Given the description of an element on the screen output the (x, y) to click on. 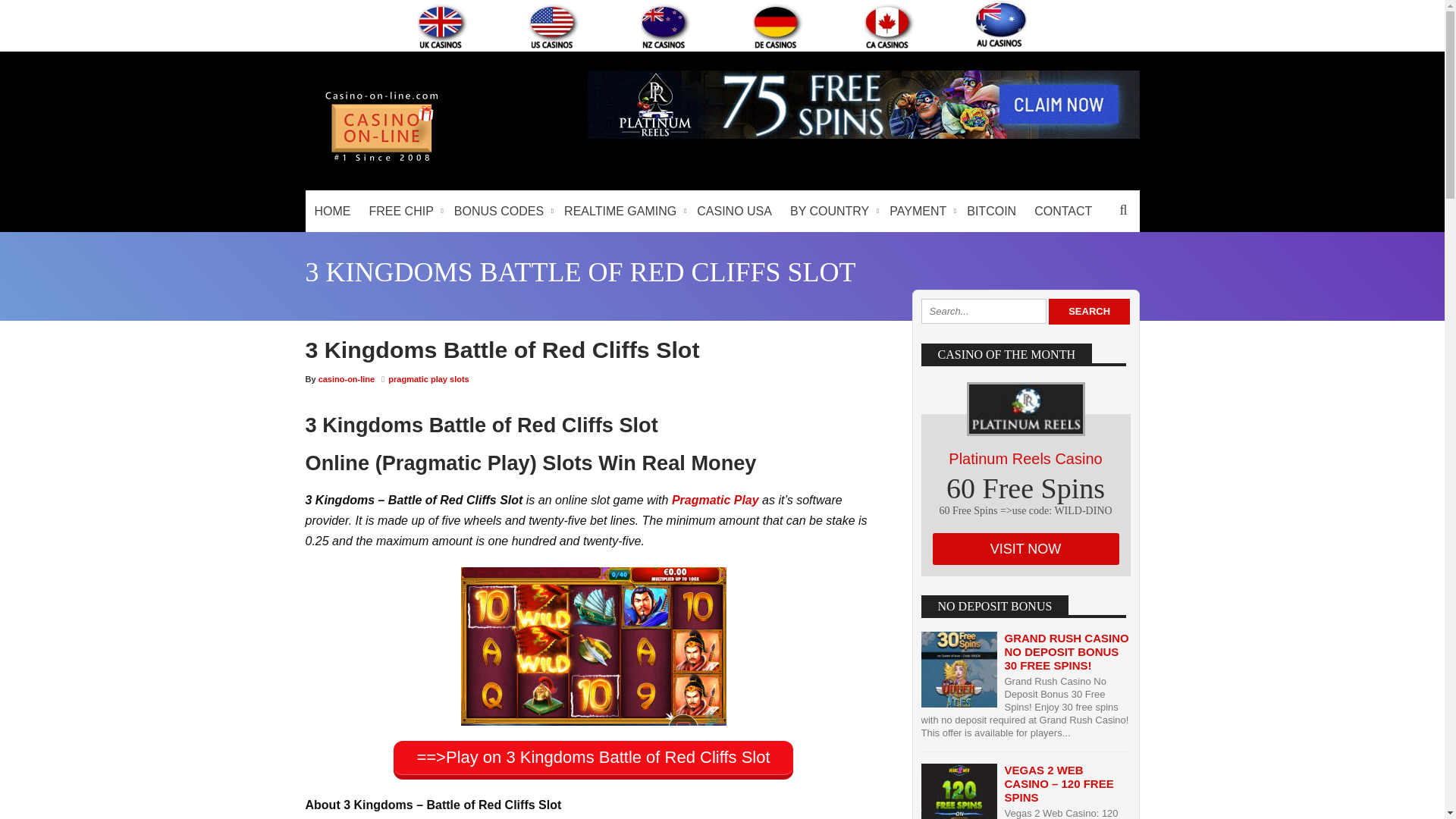
DE Casino (777, 26)
Search (1089, 311)
NZ Casinos (665, 26)
Search (1089, 311)
AU Casinos (1000, 24)
UK Casinos (442, 26)
Search (1122, 209)
HOME (331, 210)
Posts by casino-on-line (346, 379)
FREE CHIP (401, 210)
Grand Rush Casino No Deposit Bonus 30 Free Spins! (1066, 651)
Casino-on-line.com (380, 160)
CA Casino (889, 26)
US Casinos (554, 26)
